Given the description of an element on the screen output the (x, y) to click on. 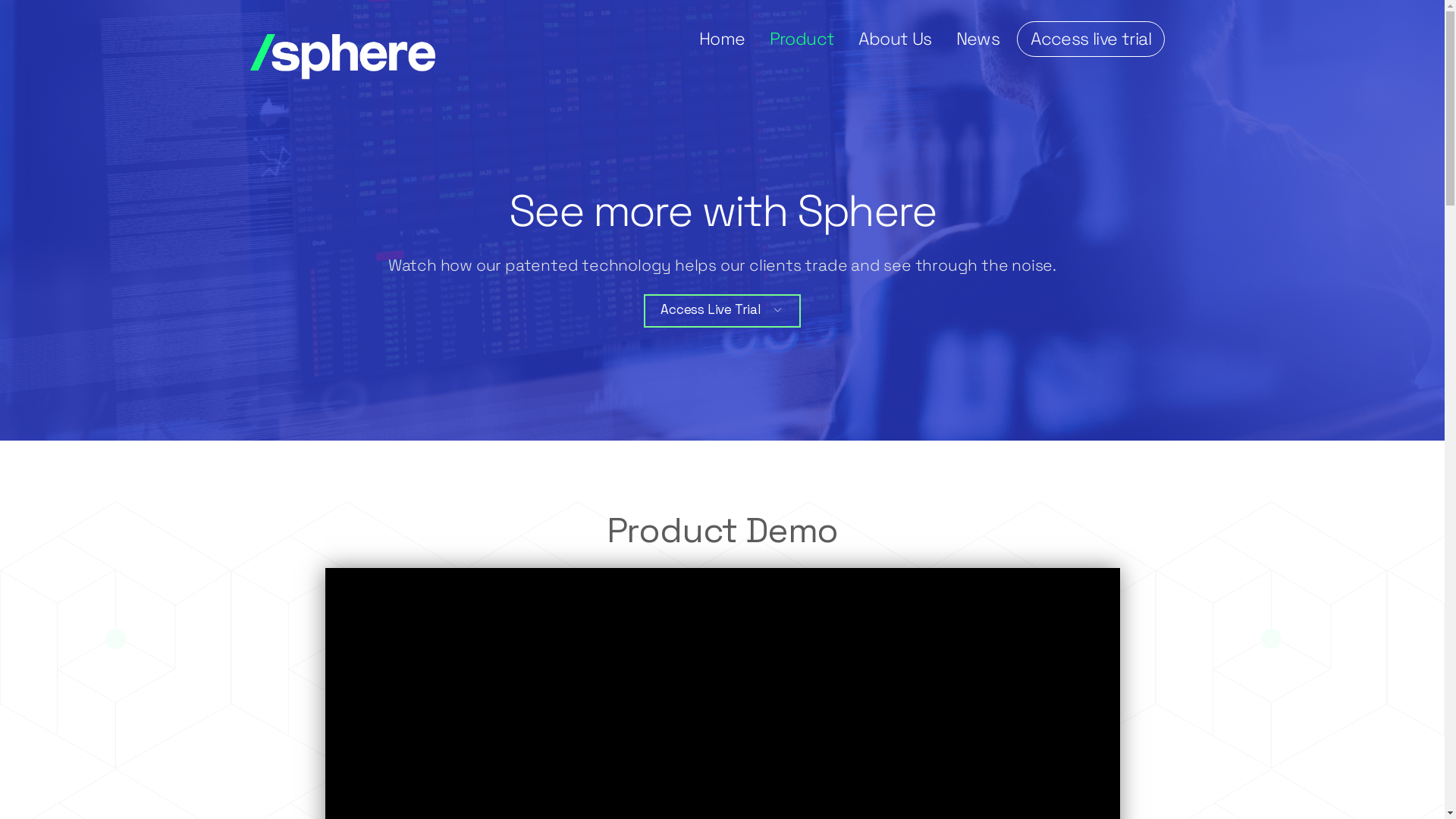
News Element type: text (977, 38)
Access live trial Element type: text (1090, 38)
Product Element type: text (802, 38)
About Us Element type: text (894, 38)
Home Element type: text (721, 38)
Access Live Trial Element type: text (721, 310)
